Given the description of an element on the screen output the (x, y) to click on. 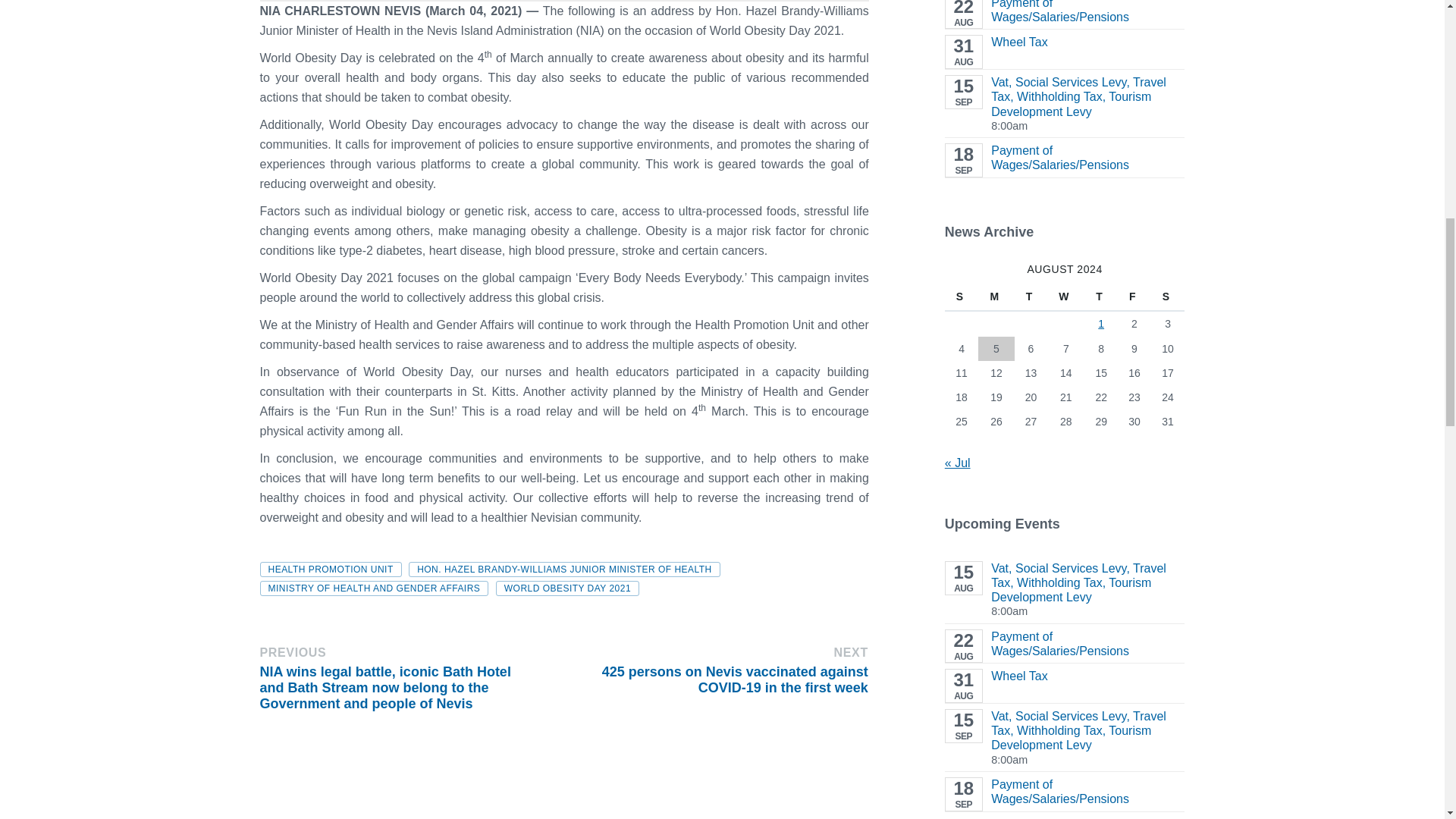
Thursday (1101, 296)
Sunday (961, 296)
Friday (1134, 296)
Monday (995, 296)
Saturday (1168, 296)
Tuesday (1031, 296)
Wednesday (1065, 296)
